Given the description of an element on the screen output the (x, y) to click on. 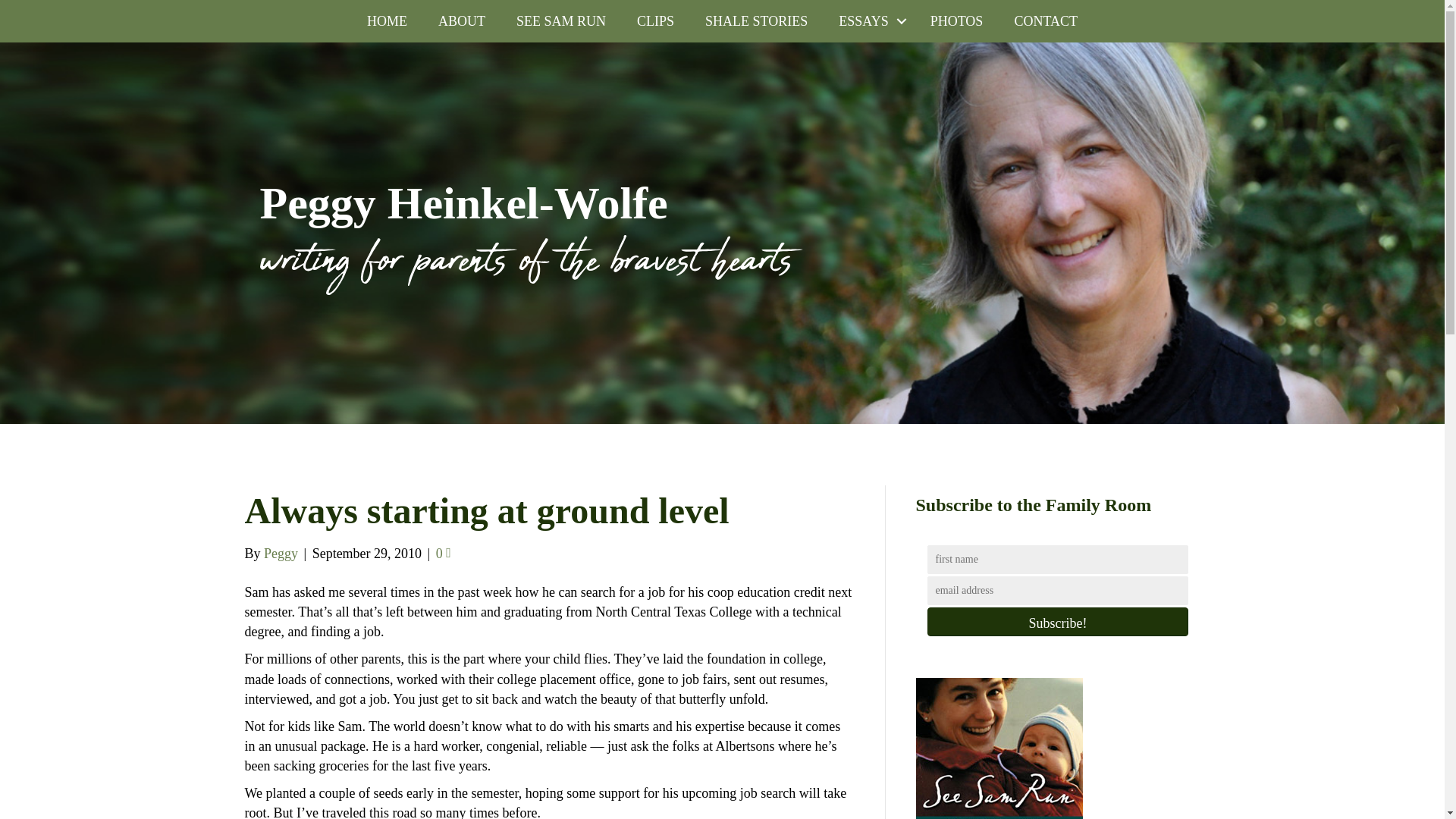
PHOTOS (956, 21)
ABOUT (461, 21)
CONTACT (1045, 21)
CLIPS (654, 21)
Subscribe! (1057, 621)
SEE SAM RUN (560, 21)
HOME (387, 21)
Peggy (280, 553)
ESSAYS (869, 21)
writing for parents of the bravest hearts (530, 264)
